Given the description of an element on the screen output the (x, y) to click on. 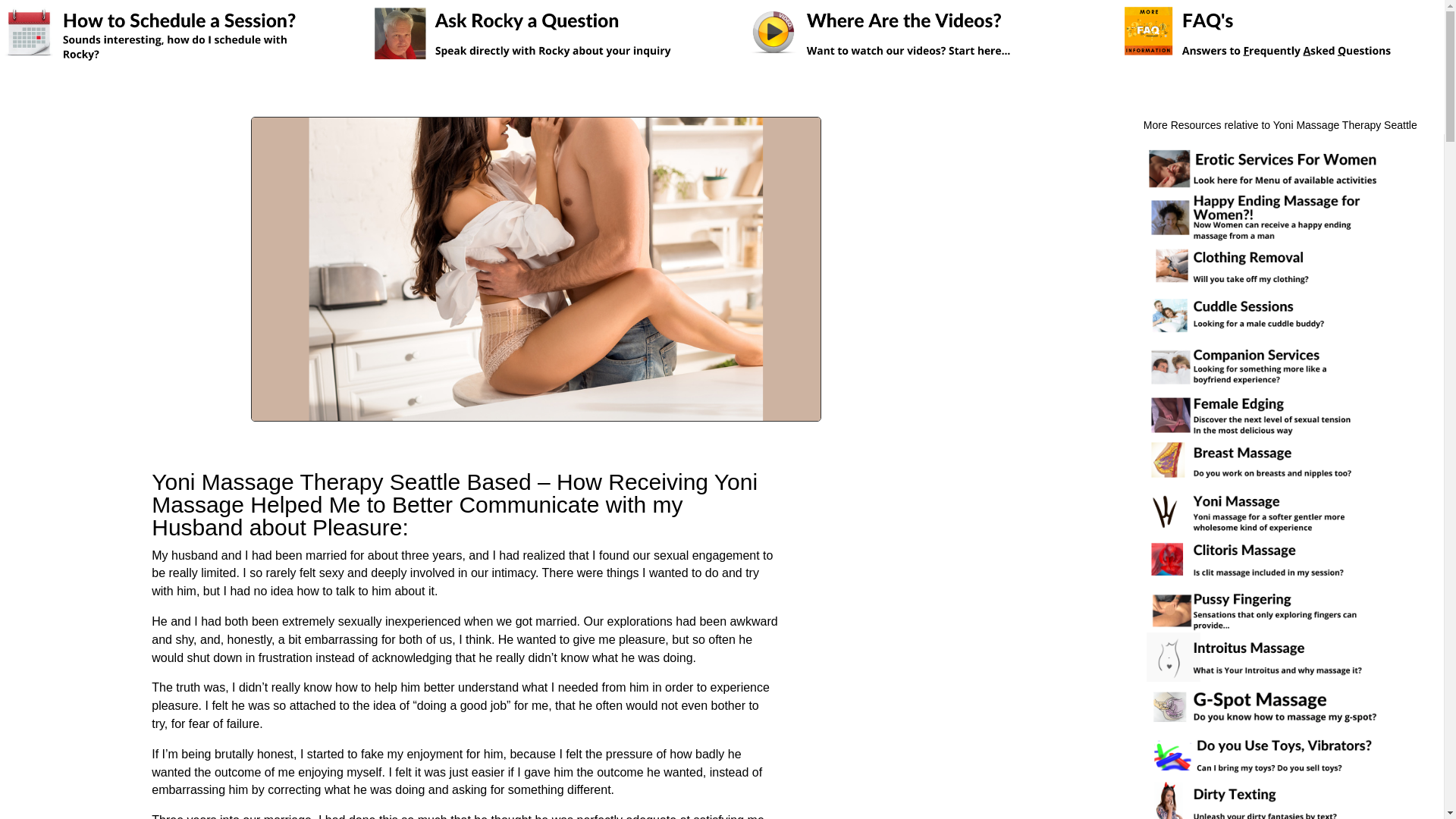
Erotic services for women (1268, 217)
Erotic services for women (1268, 168)
Erotic services for women (1268, 265)
